Given the description of an element on the screen output the (x, y) to click on. 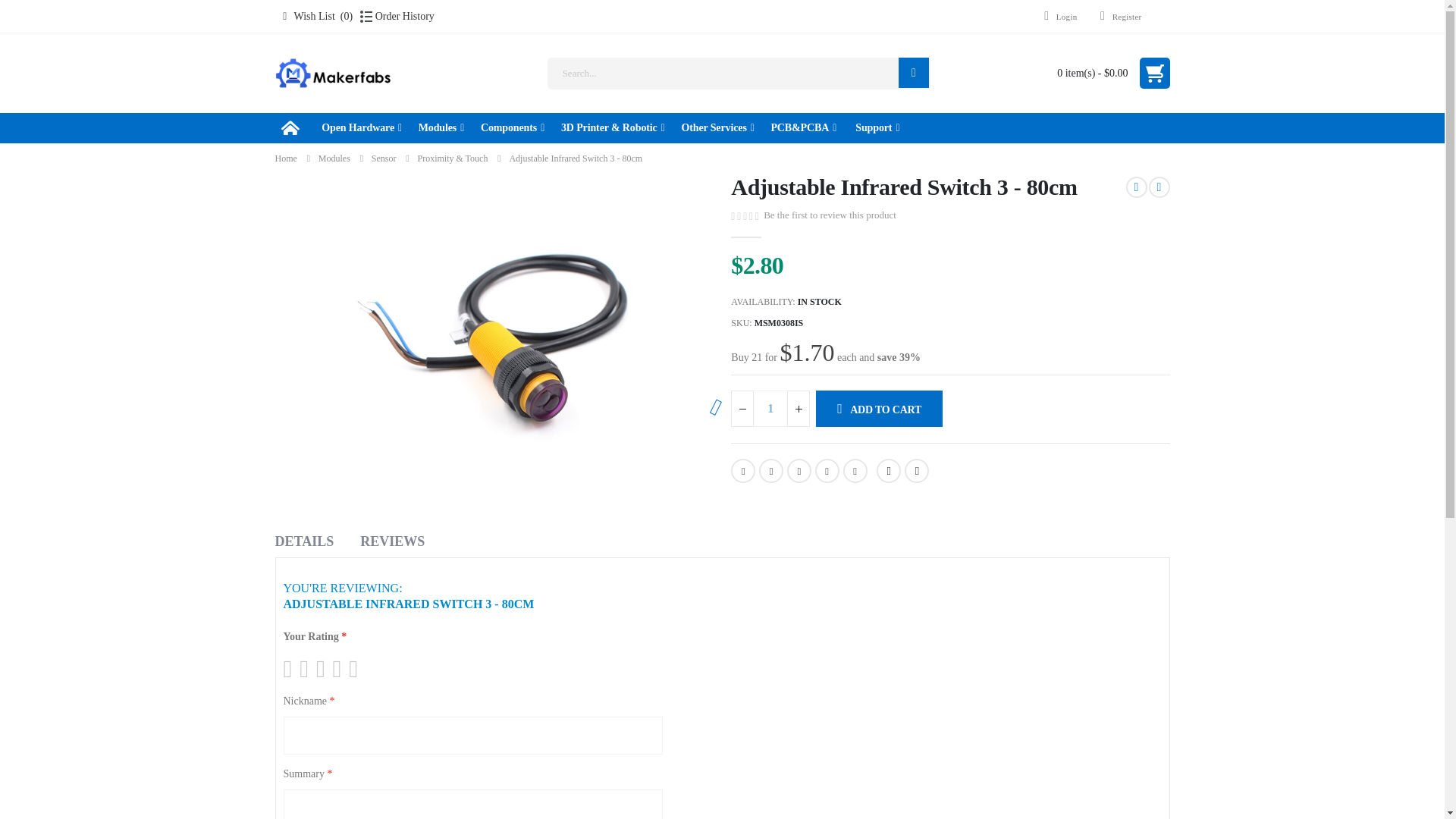
1 (770, 408)
Login (1055, 16)
Order History (396, 16)
Open Hardware (361, 128)
Register (1115, 16)
Modules (441, 128)
